Given the description of an element on the screen output the (x, y) to click on. 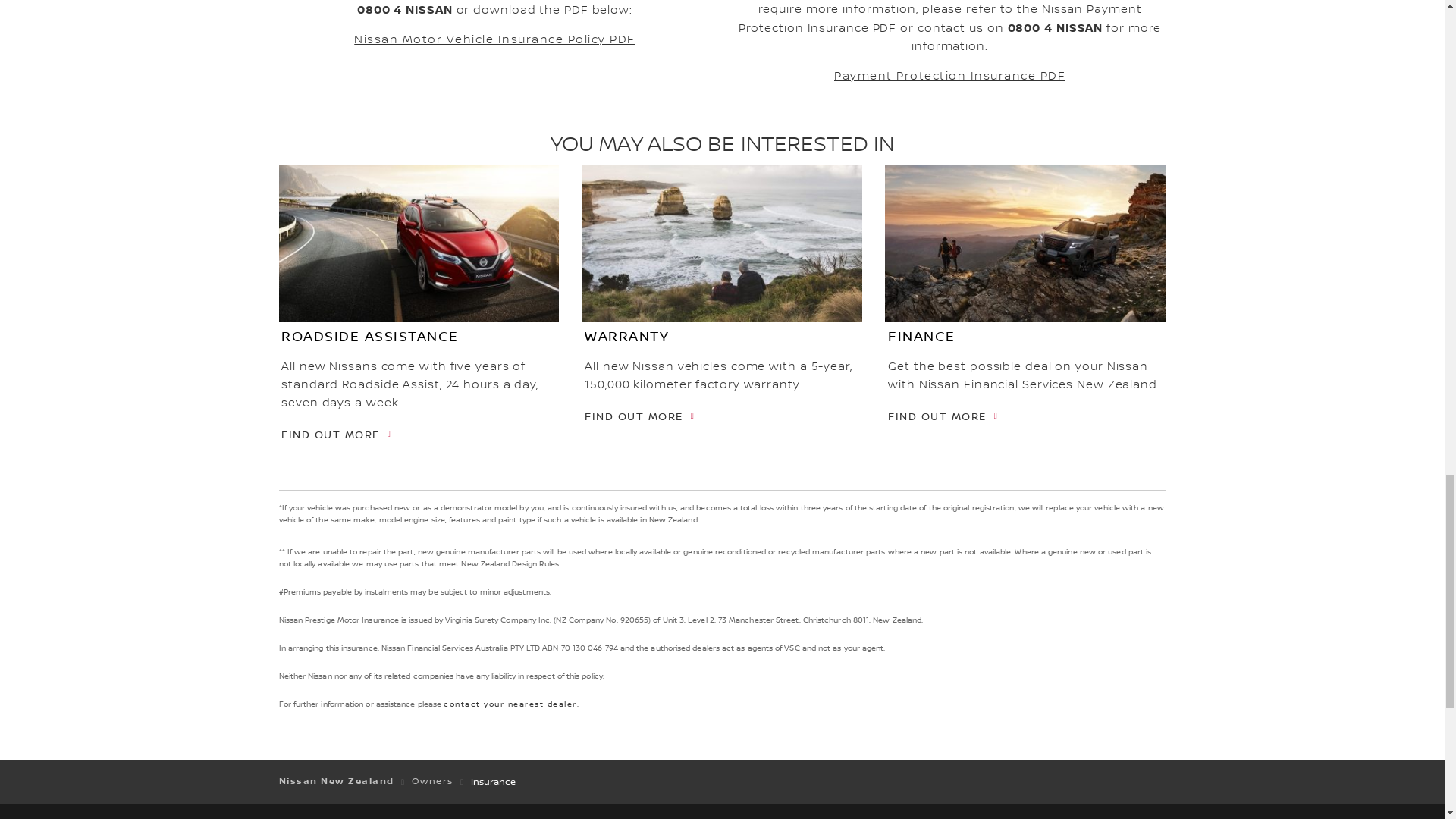
Find out more (639, 418)
Find out more (336, 436)
Find out more (942, 418)
